Given the description of an element on the screen output the (x, y) to click on. 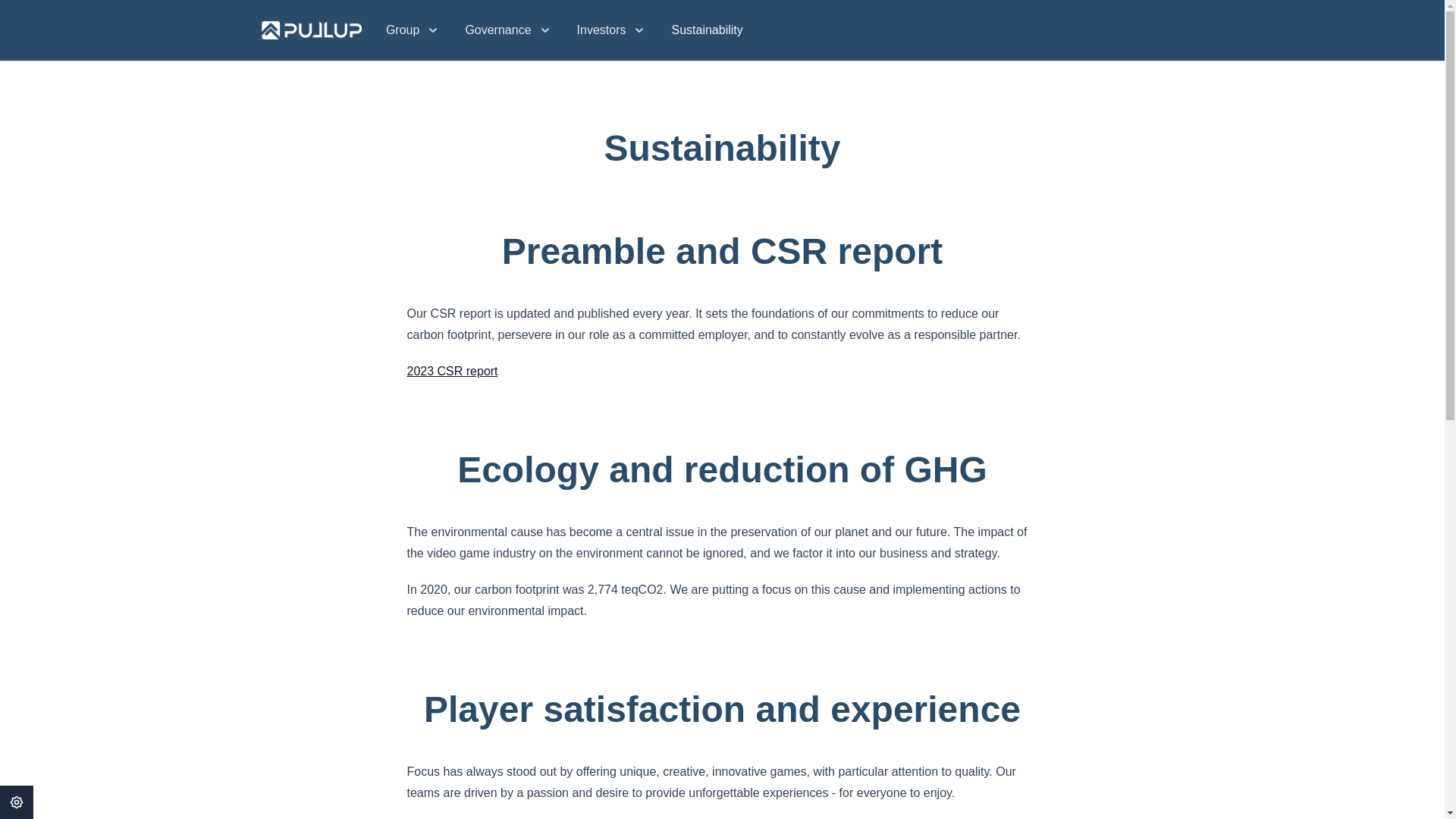
Investors (611, 30)
Group (413, 30)
Sustainability (706, 30)
Governance (507, 30)
open cookie settings (16, 802)
2023 CSR report (451, 370)
